Given the description of an element on the screen output the (x, y) to click on. 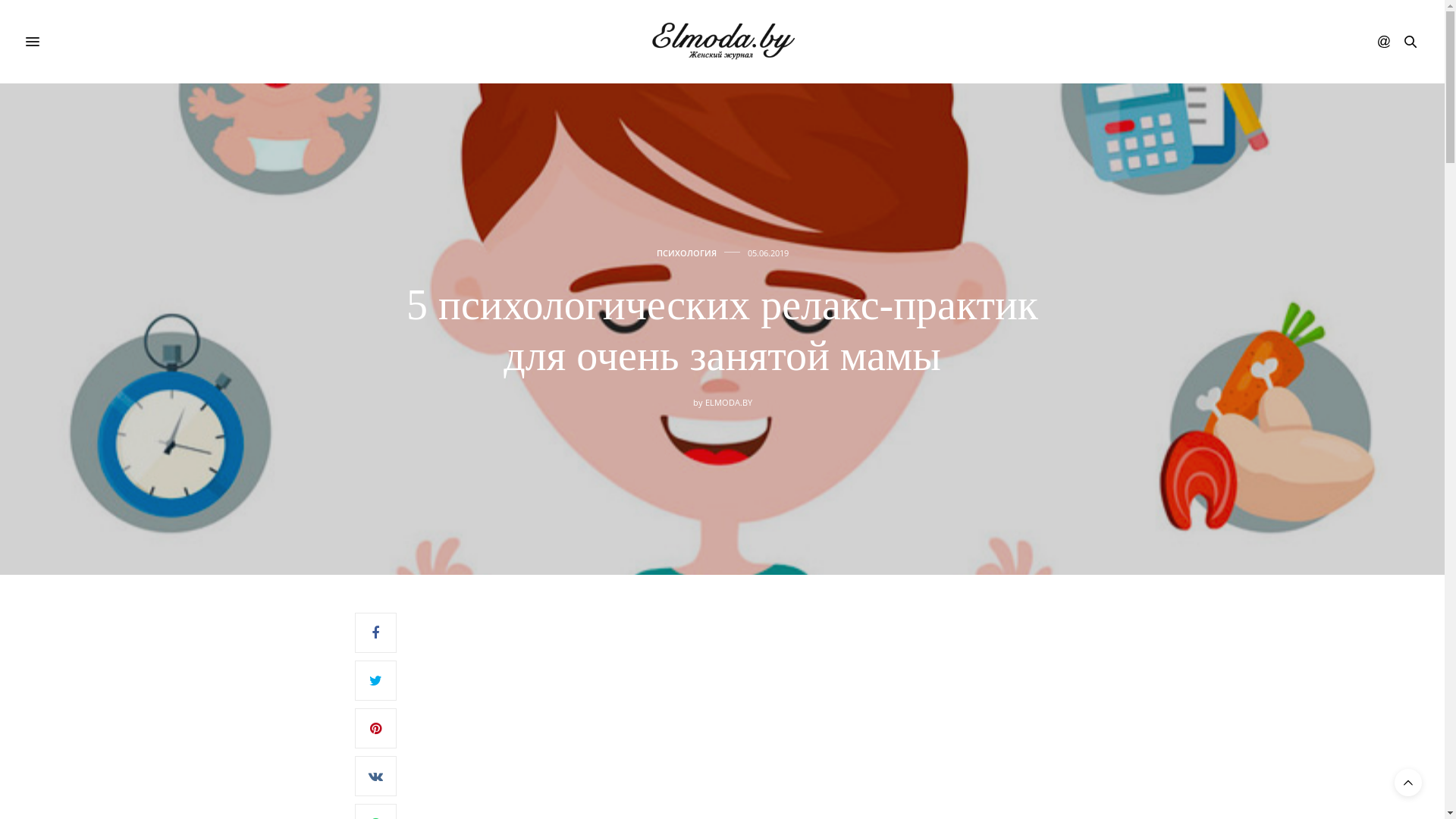
Scroll To Top Element type: hover (1407, 782)
ELMODA.BY Element type: text (728, 401)
